Given the description of an element on the screen output the (x, y) to click on. 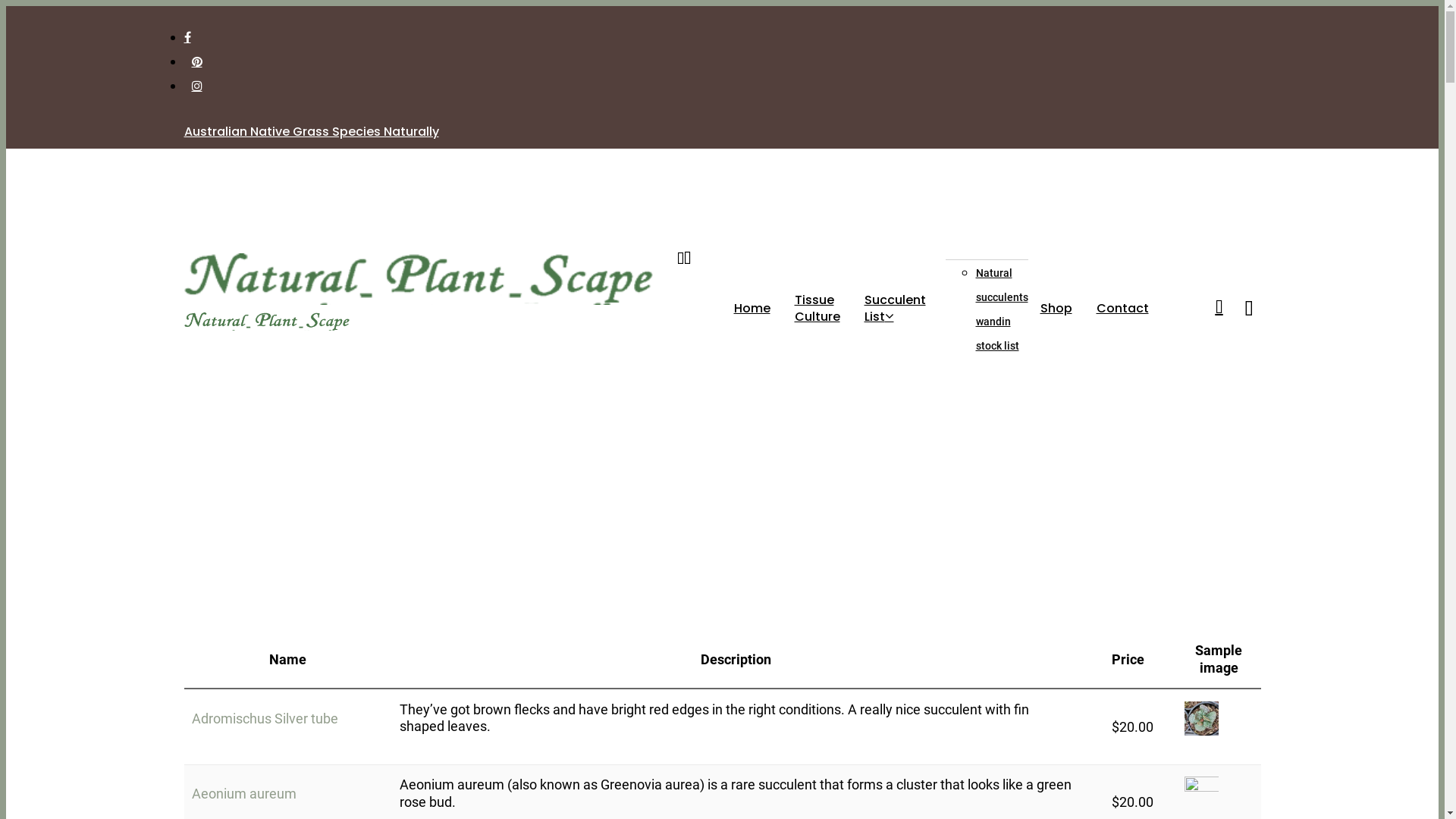
Shop Element type: text (1056, 308)
Tissue Culture Element type: text (817, 308)
Aeonium aurea Element type: hover (1201, 793)
Adro Silv Tube Element type: hover (1201, 718)
Natural succulents wandin stock list Element type: text (1001, 308)
Australian Native Grass Species Naturally Element type: text (310, 131)
Home Element type: text (751, 308)
Adromischus Silver tube Element type: text (264, 718)
Contact Element type: text (1122, 308)
Succulent List Element type: text (898, 308)
Aeonium aureum Element type: text (243, 793)
